Given the description of an element on the screen output the (x, y) to click on. 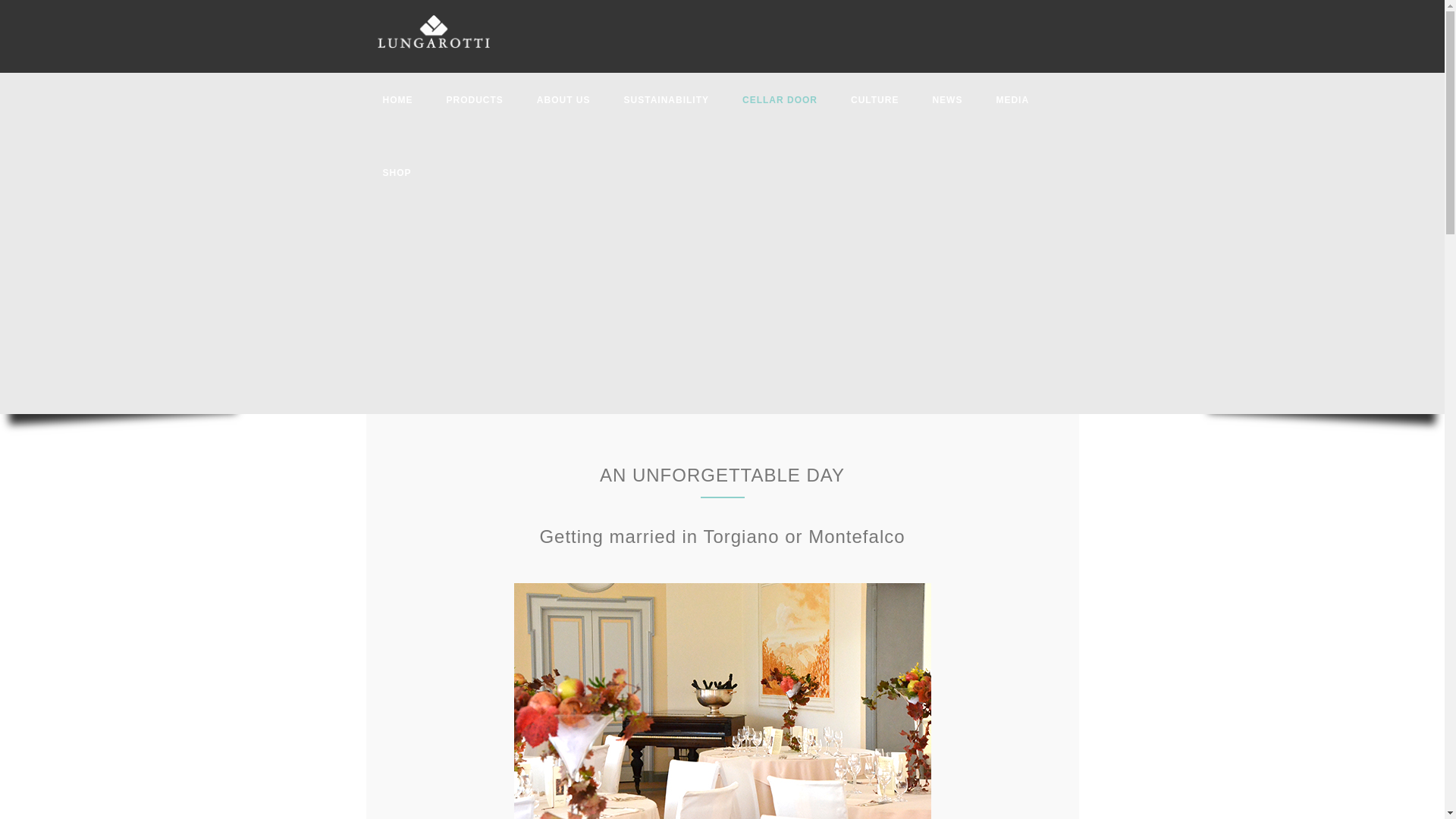
SUSTAINABILITY (666, 99)
Cantine Lungarotti (433, 31)
